Given the description of an element on the screen output the (x, y) to click on. 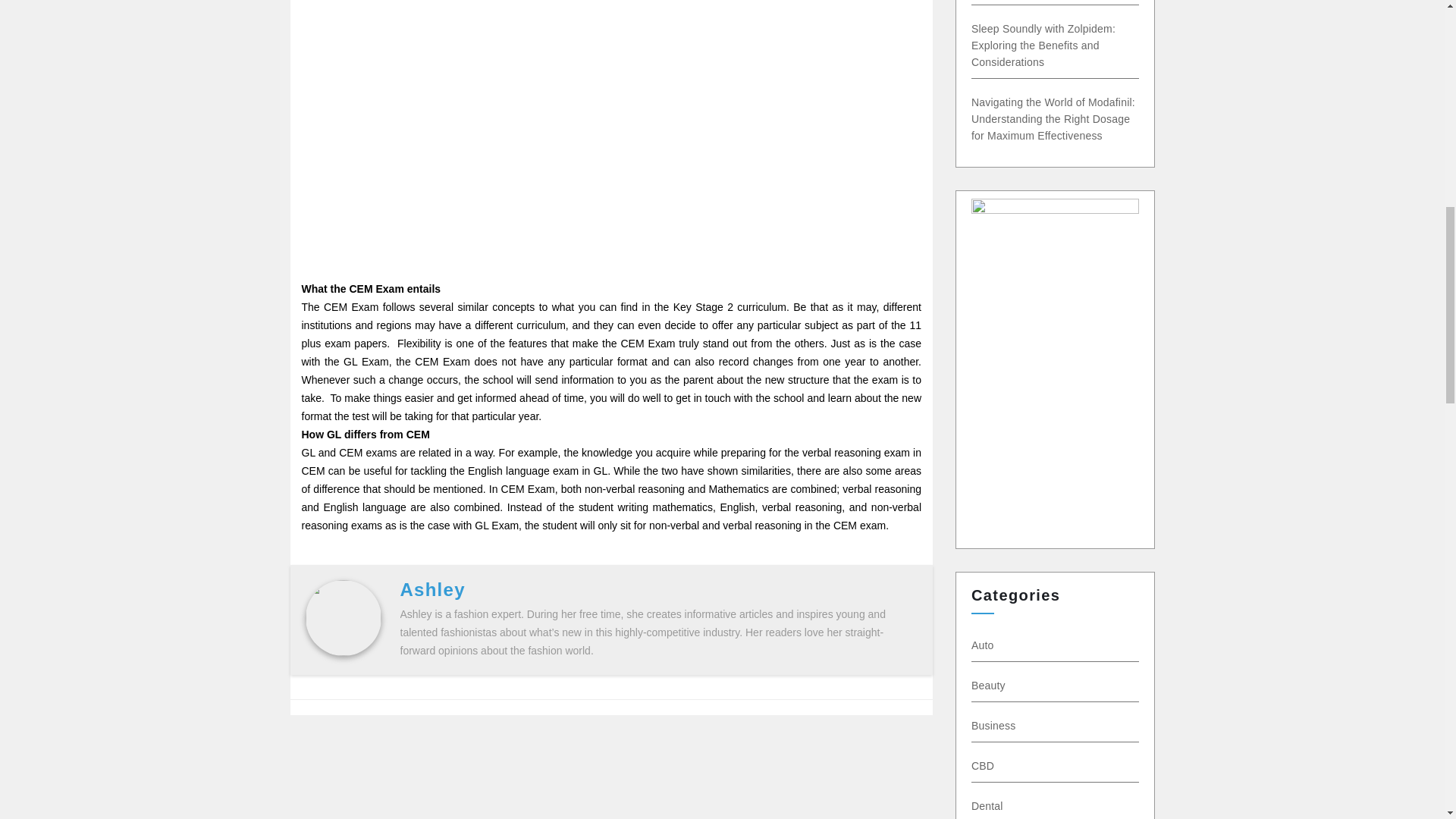
Business (1000, 725)
Auto (979, 645)
CBD (989, 766)
Dental (991, 806)
Beauty (992, 685)
Ashley (432, 589)
